Given the description of an element on the screen output the (x, y) to click on. 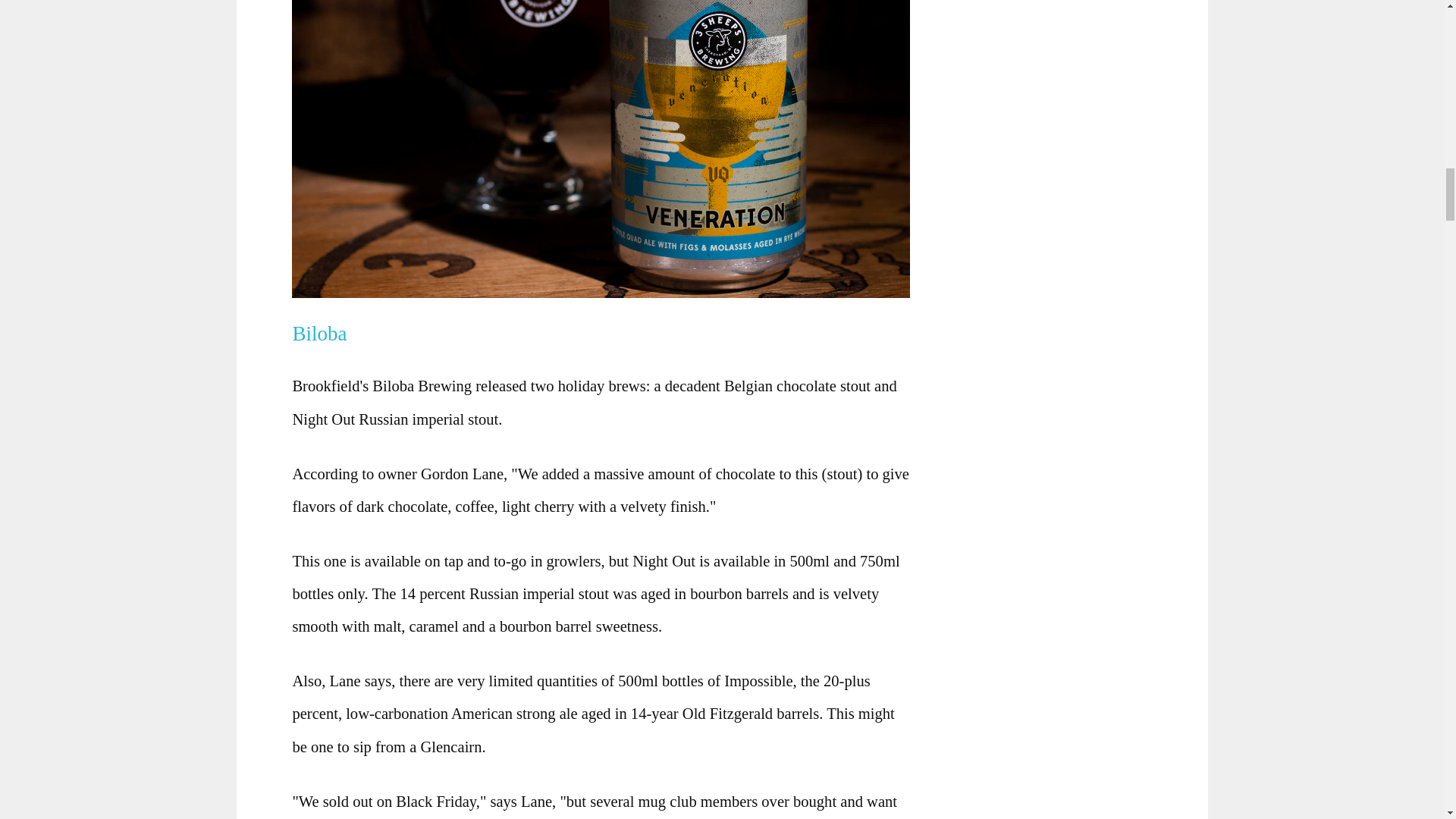
Biloba (324, 333)
